Given the description of an element on the screen output the (x, y) to click on. 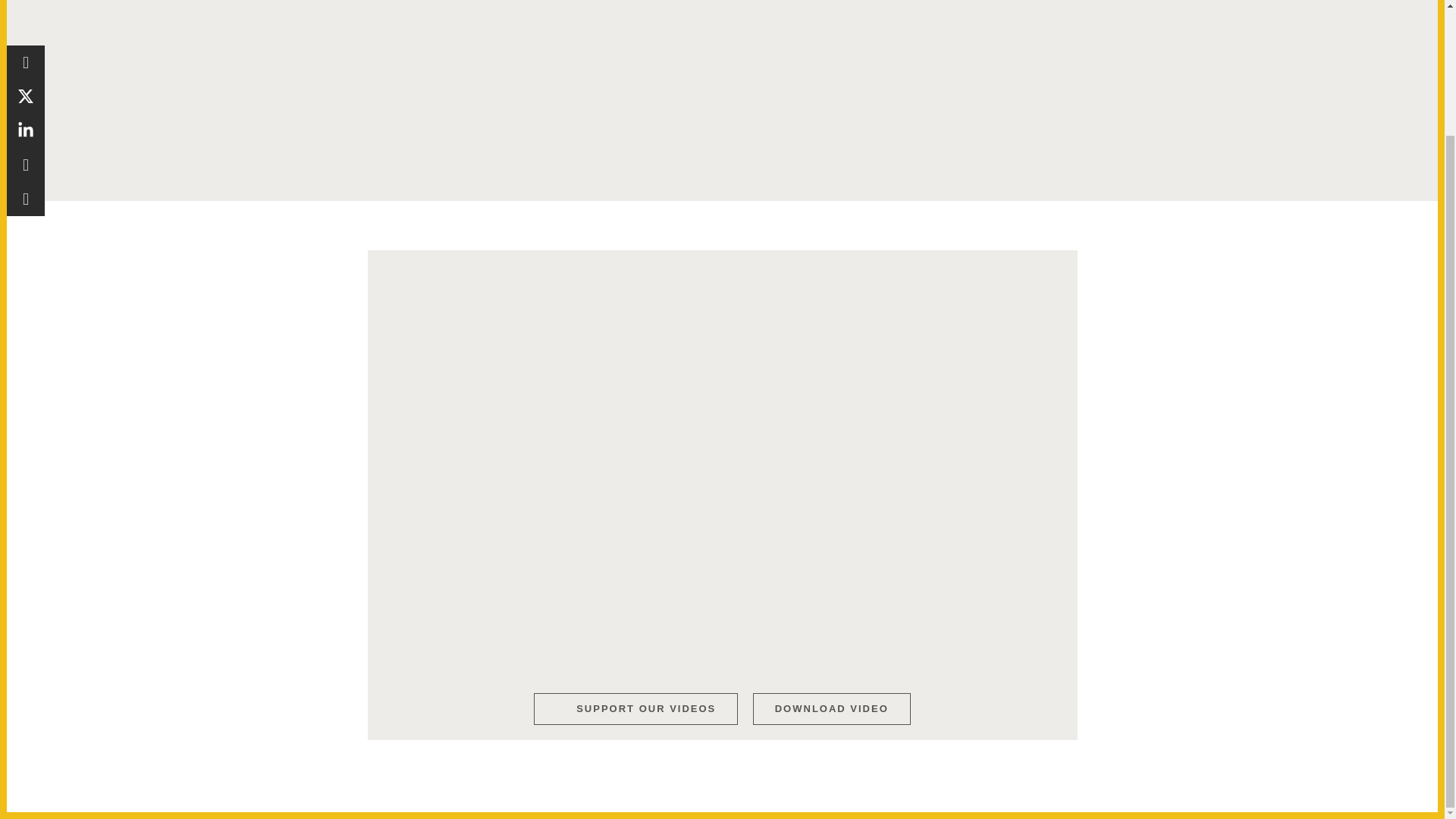
Email (26, 47)
Reddit (26, 15)
Email (26, 47)
Reddit (26, 15)
